Given the description of an element on the screen output the (x, y) to click on. 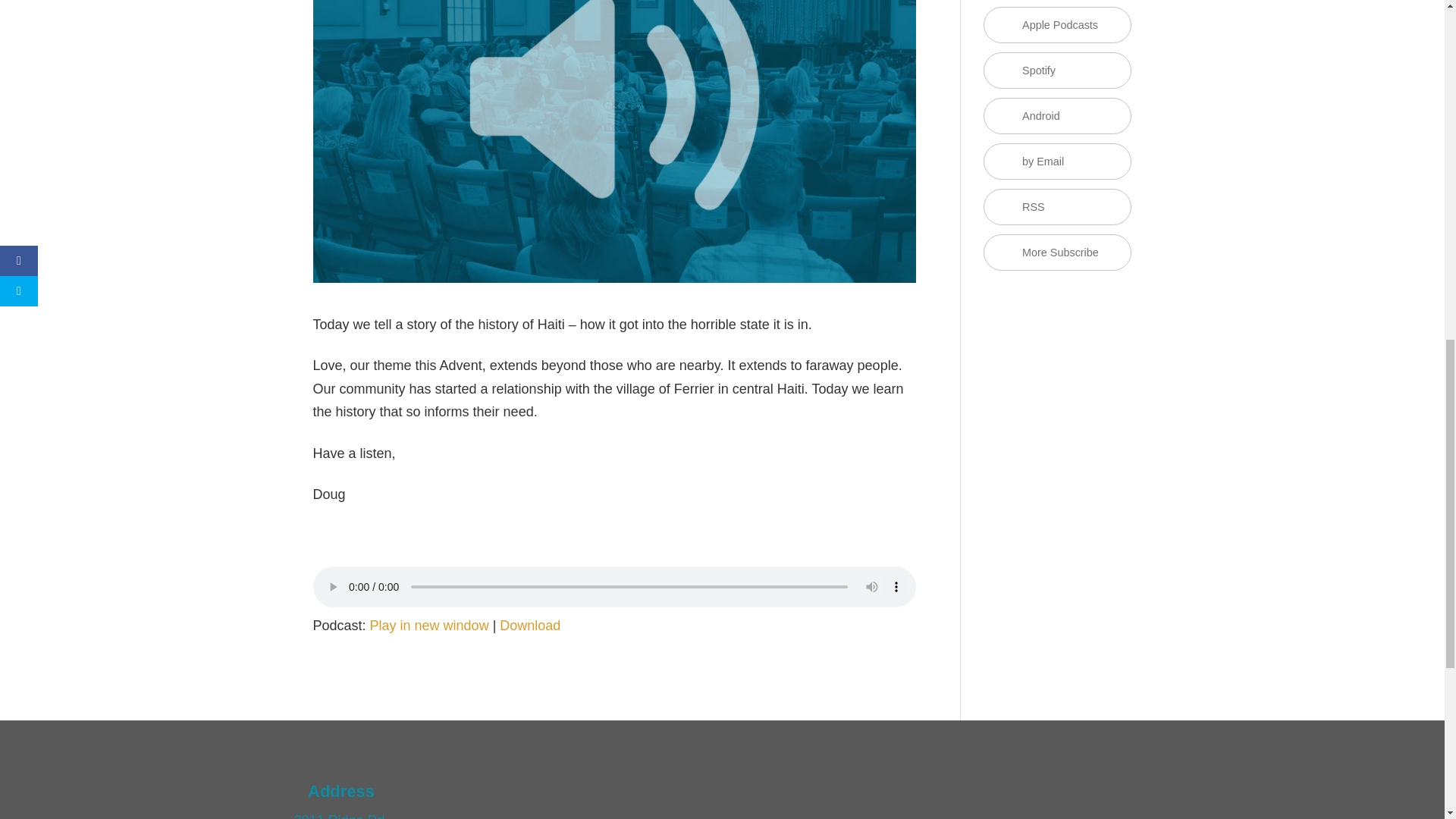
More Subscribe Options (1057, 252)
Subscribe on Spotify (1057, 70)
Download (529, 625)
Subscribe by Email (1057, 161)
Subscribe on Android (1057, 115)
Play in new window (429, 625)
Subscribe via RSS (1057, 207)
Subscribe on Apple Podcasts (1057, 24)
